Given the description of an element on the screen output the (x, y) to click on. 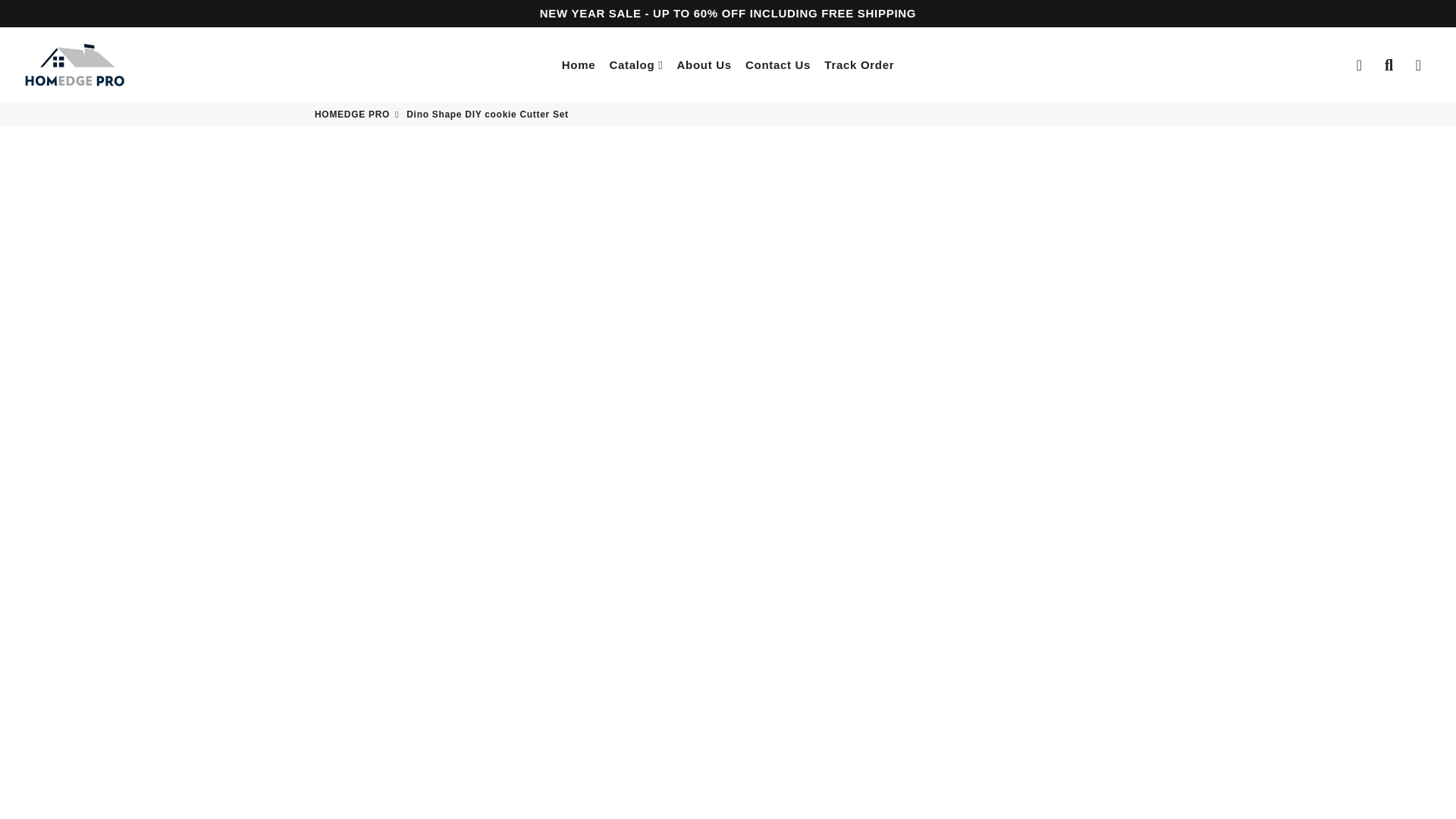
HOMEDGE PRO (74, 64)
Home (577, 65)
About Us (703, 65)
Contact Us (777, 65)
Catalog (636, 65)
